Given the description of an element on the screen output the (x, y) to click on. 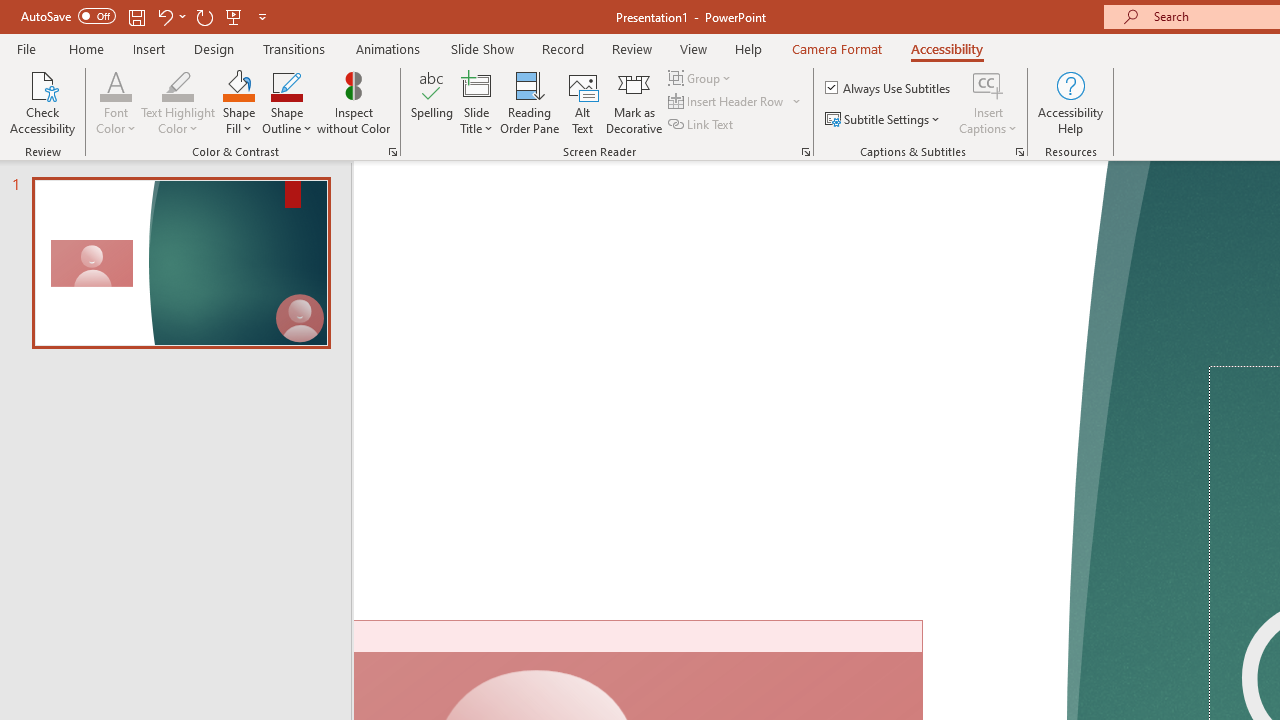
Mark as Decorative (634, 102)
Screen Reader (805, 151)
